Given the description of an element on the screen output the (x, y) to click on. 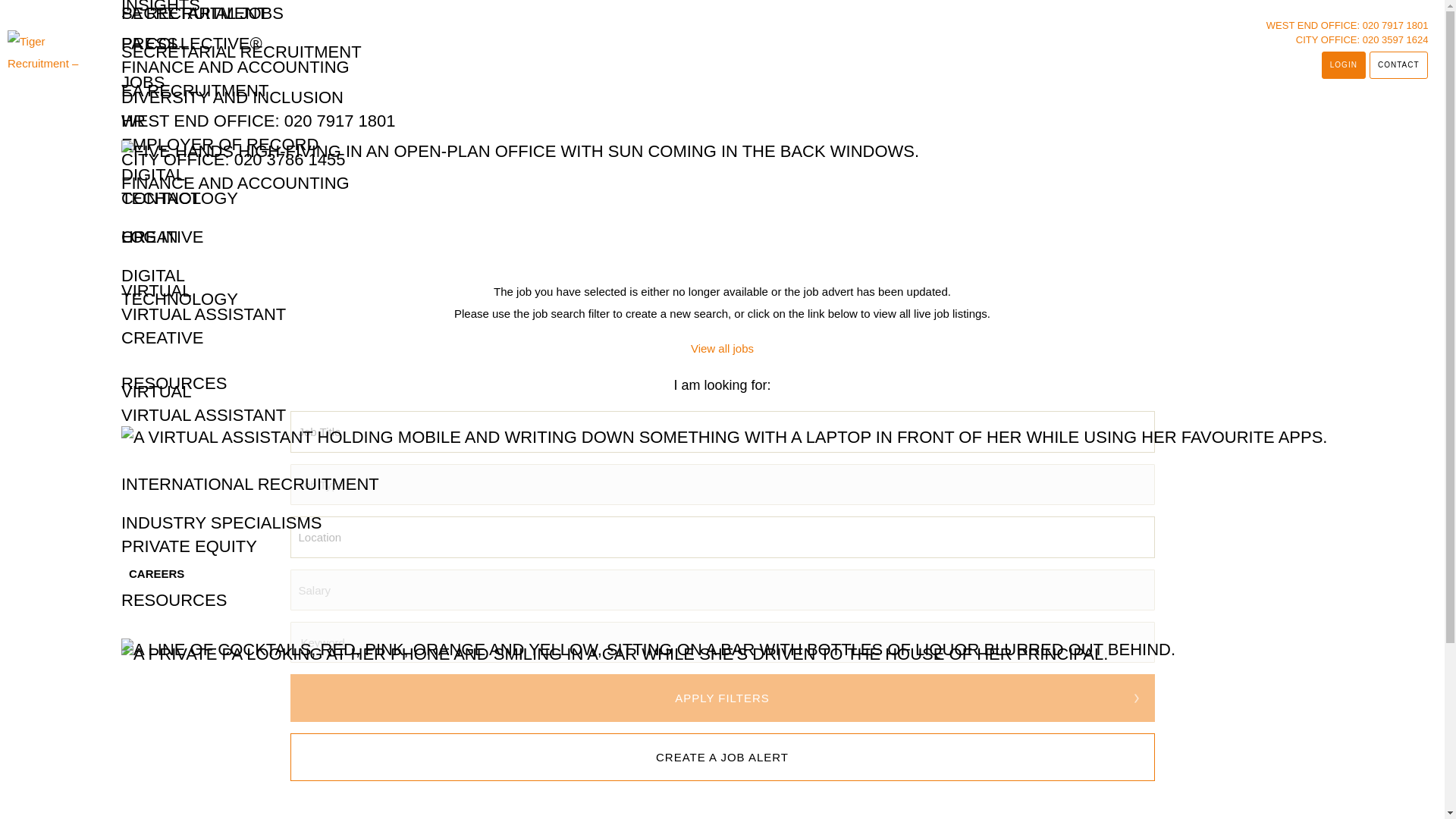
RESOURCES (173, 599)
DIGITAL (152, 174)
Tiger Recruitment (48, 48)
PA RECRUITMENT (193, 12)
EMPLOYER OF RECORD (219, 144)
RESOURCES (173, 382)
TECHNOLOGY (179, 197)
CREATIVE (161, 336)
HR (132, 119)
Login (1343, 64)
PRIVATE EQUITY (188, 546)
VIRTUAL (156, 391)
FINANCE AND ACCOUNTING (234, 182)
FINANCE AND ACCOUNTING (234, 66)
INDUSTRY SPECIALISMS (220, 522)
